Given the description of an element on the screen output the (x, y) to click on. 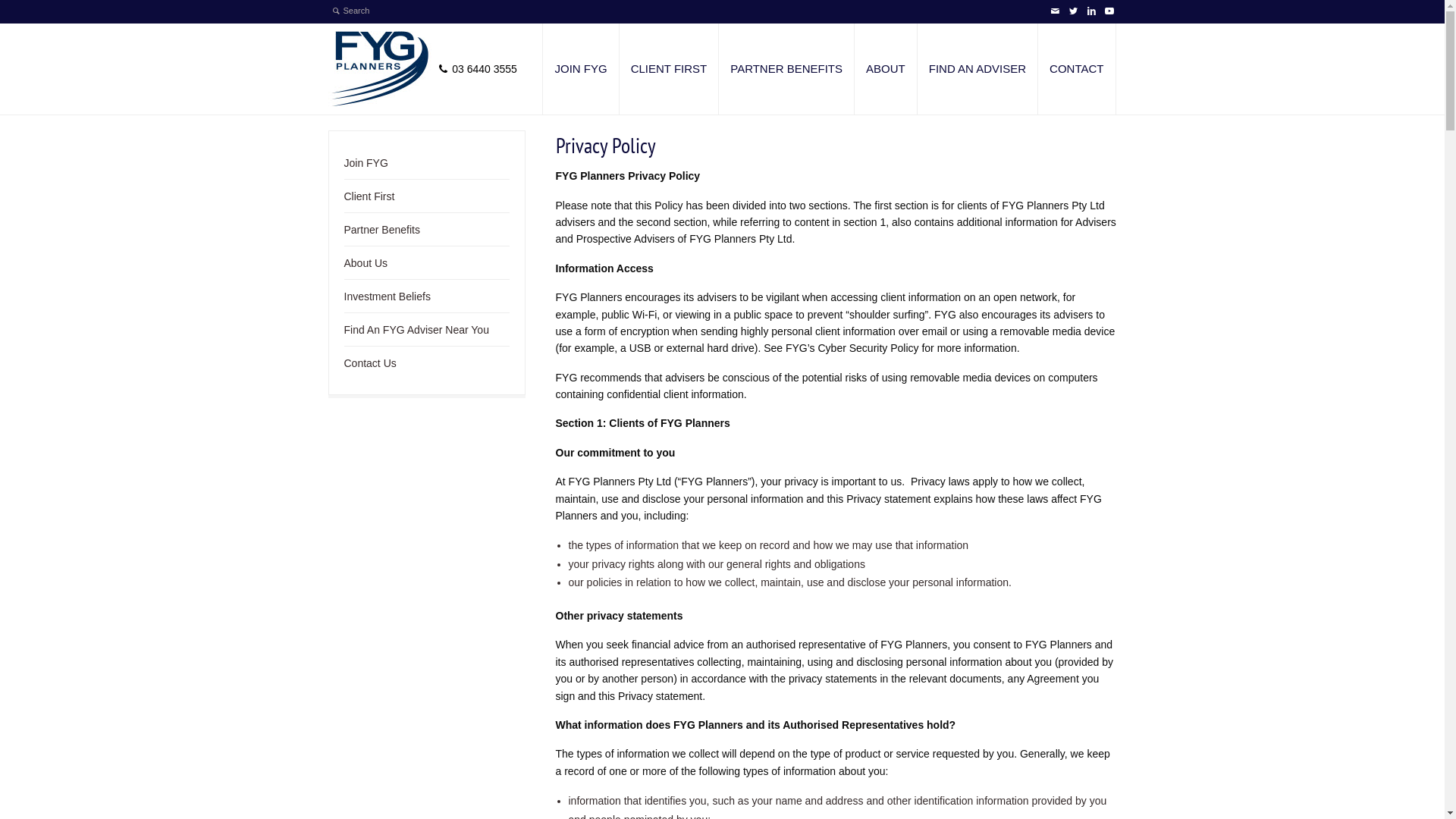
Linkedin Element type: hover (1090, 10)
JOIN FYG Element type: text (580, 68)
PARTNER BENEFITS Element type: text (785, 68)
FIND AN ADVISER Element type: text (977, 68)
Twitter Element type: hover (1071, 10)
Find An FYG Adviser Near You Element type: text (416, 333)
YouTube Element type: hover (1108, 10)
CONTACT Element type: text (1076, 68)
Email Element type: hover (1053, 10)
About Us Element type: text (366, 267)
FYG Planners Element type: hover (378, 68)
Join FYG Element type: text (366, 166)
Client First Element type: text (369, 200)
ABOUT Element type: text (885, 68)
Contact Us Element type: text (370, 367)
Investment Beliefs Element type: text (387, 300)
CLIENT FIRST Element type: text (668, 68)
Partner Benefits Element type: text (382, 233)
